Given the description of an element on the screen output the (x, y) to click on. 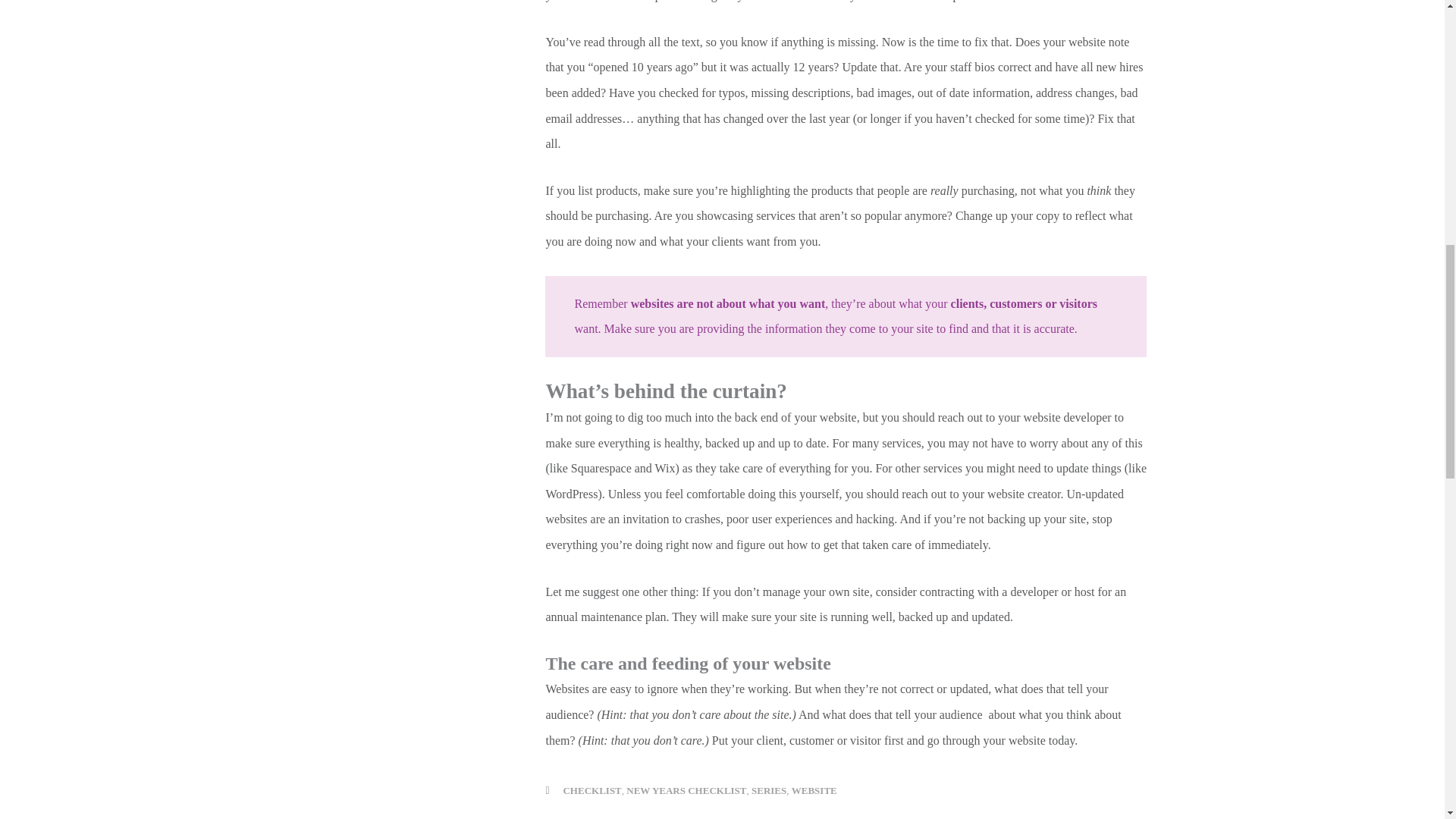
SERIES (768, 790)
WEBSITE (814, 790)
CHECKLIST (591, 790)
NEW YEARS CHECKLIST (685, 790)
